Given the description of an element on the screen output the (x, y) to click on. 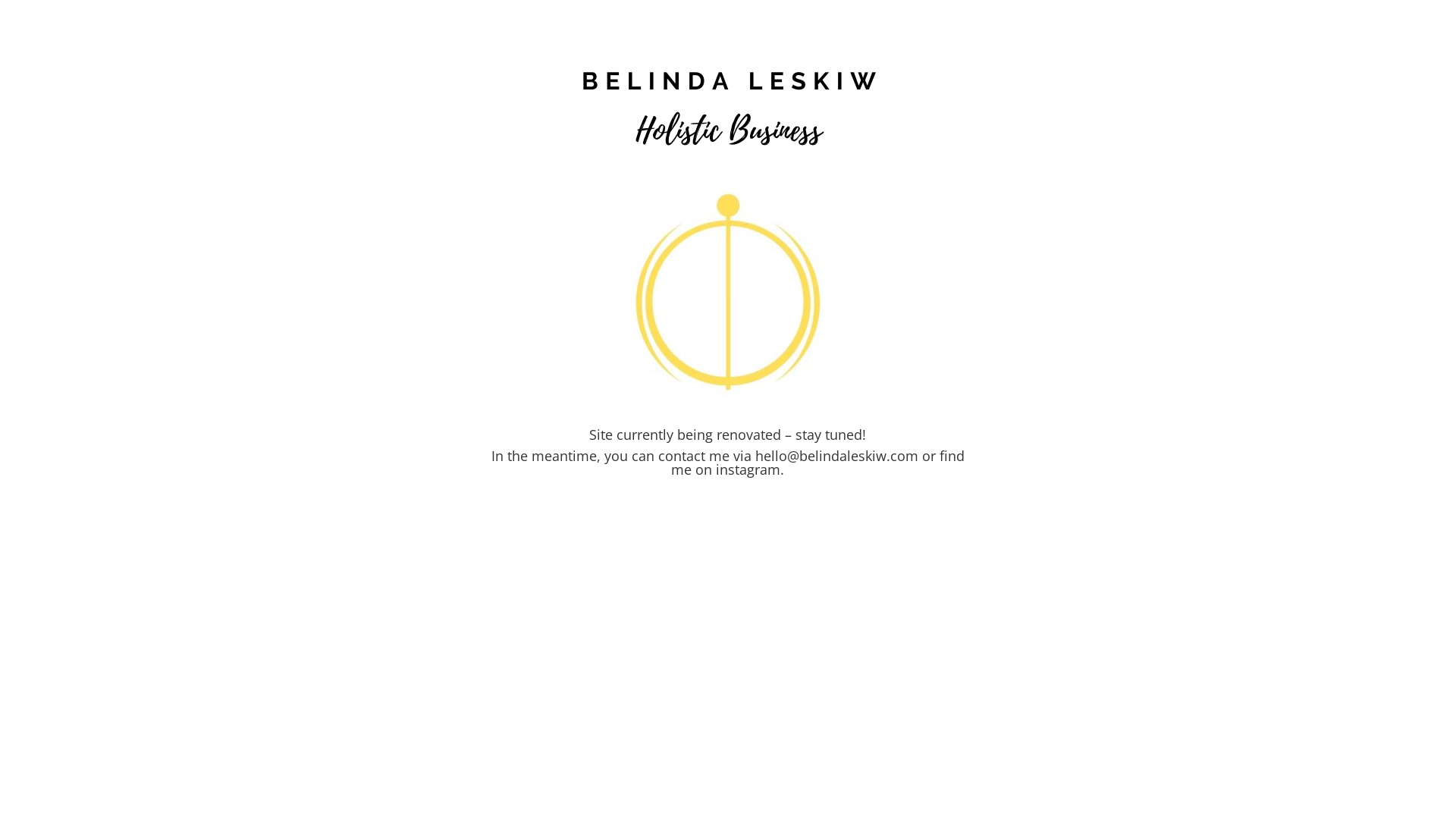
Belinda leskiw logo new Element type: hover (727, 108)
YouAreTheLinchpin_graphic Element type: hover (727, 291)
instagram Element type: text (747, 469)
